Given the description of an element on the screen output the (x, y) to click on. 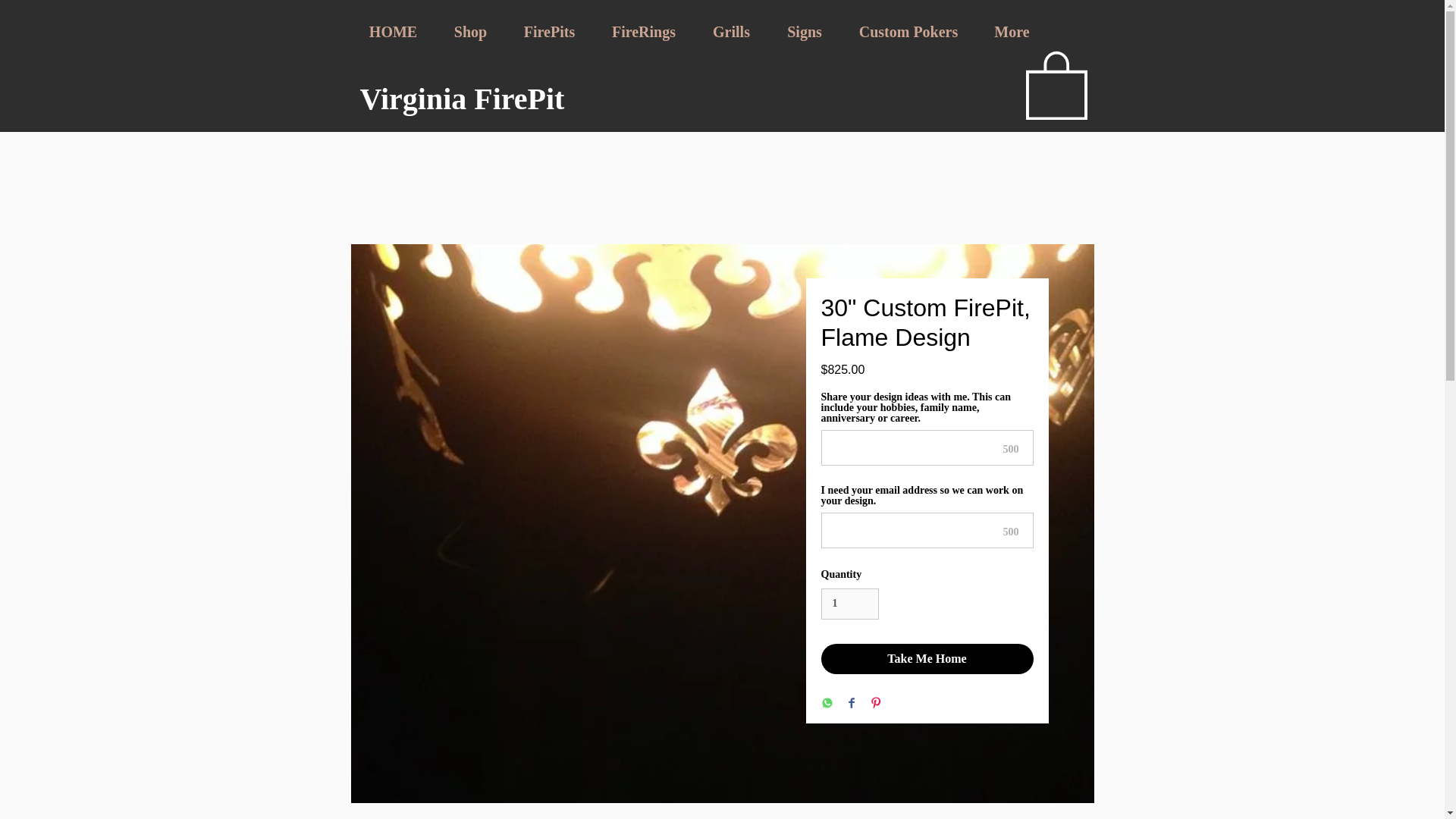
Custom Pokers (907, 32)
FireRings (643, 32)
Shop (470, 32)
Take Me Home (926, 658)
Grills (731, 32)
FirePits (548, 32)
1 (849, 603)
Signs (804, 32)
HOME (392, 32)
